Given the description of an element on the screen output the (x, y) to click on. 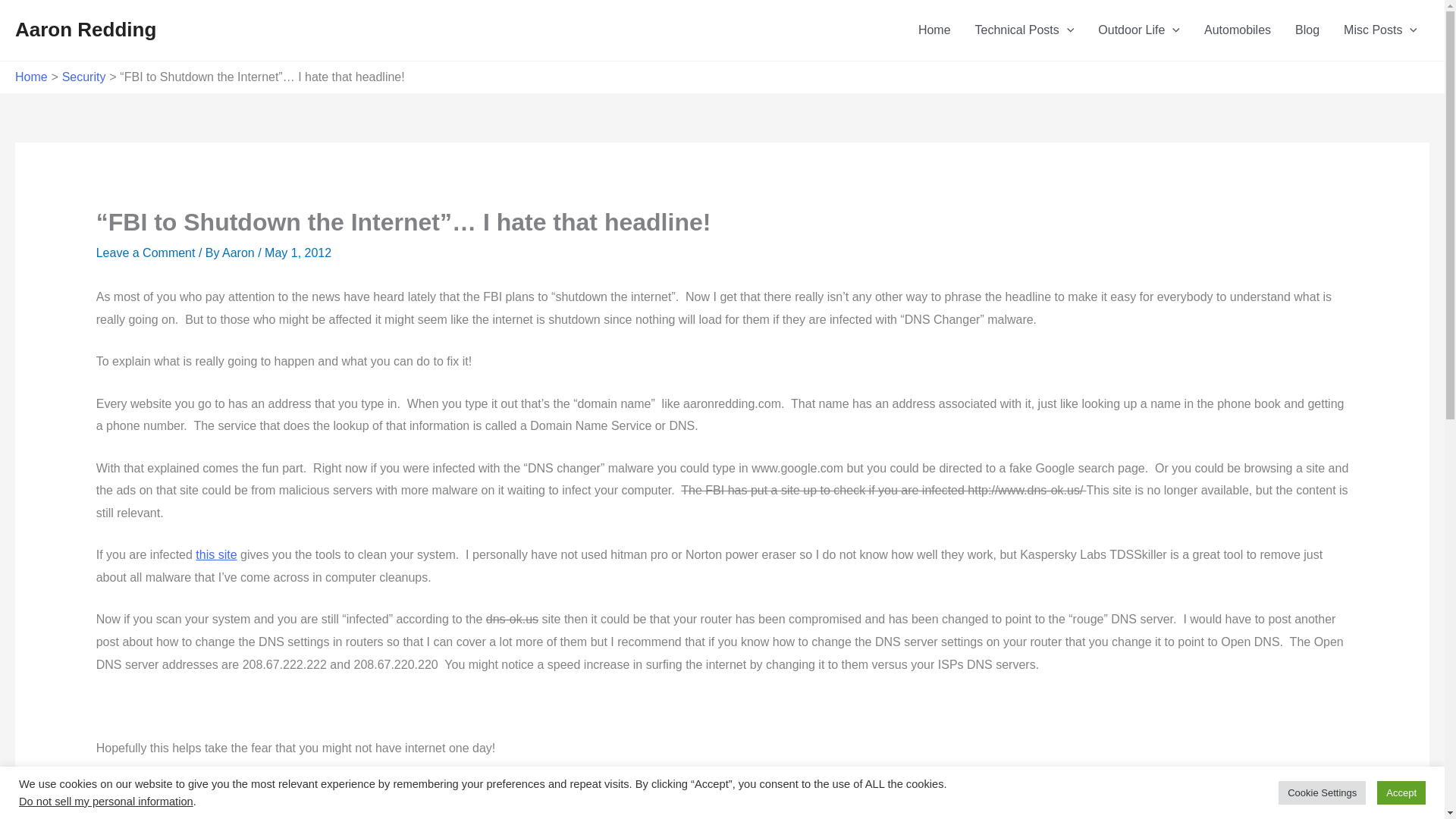
Security (84, 76)
Automobiles (1237, 30)
Click to share on Reddit (228, 814)
Leave a Comment (145, 252)
Click to print (168, 814)
Click to share on Facebook (138, 814)
Technical Posts (1024, 30)
Aaron Redding (84, 29)
View all posts by Aaron (239, 252)
Aaron (239, 252)
Click to share on Twitter (108, 814)
Outdoor Life (1139, 30)
Home (933, 30)
Click to share on Pinterest (259, 814)
Home (31, 76)
